Given the description of an element on the screen output the (x, y) to click on. 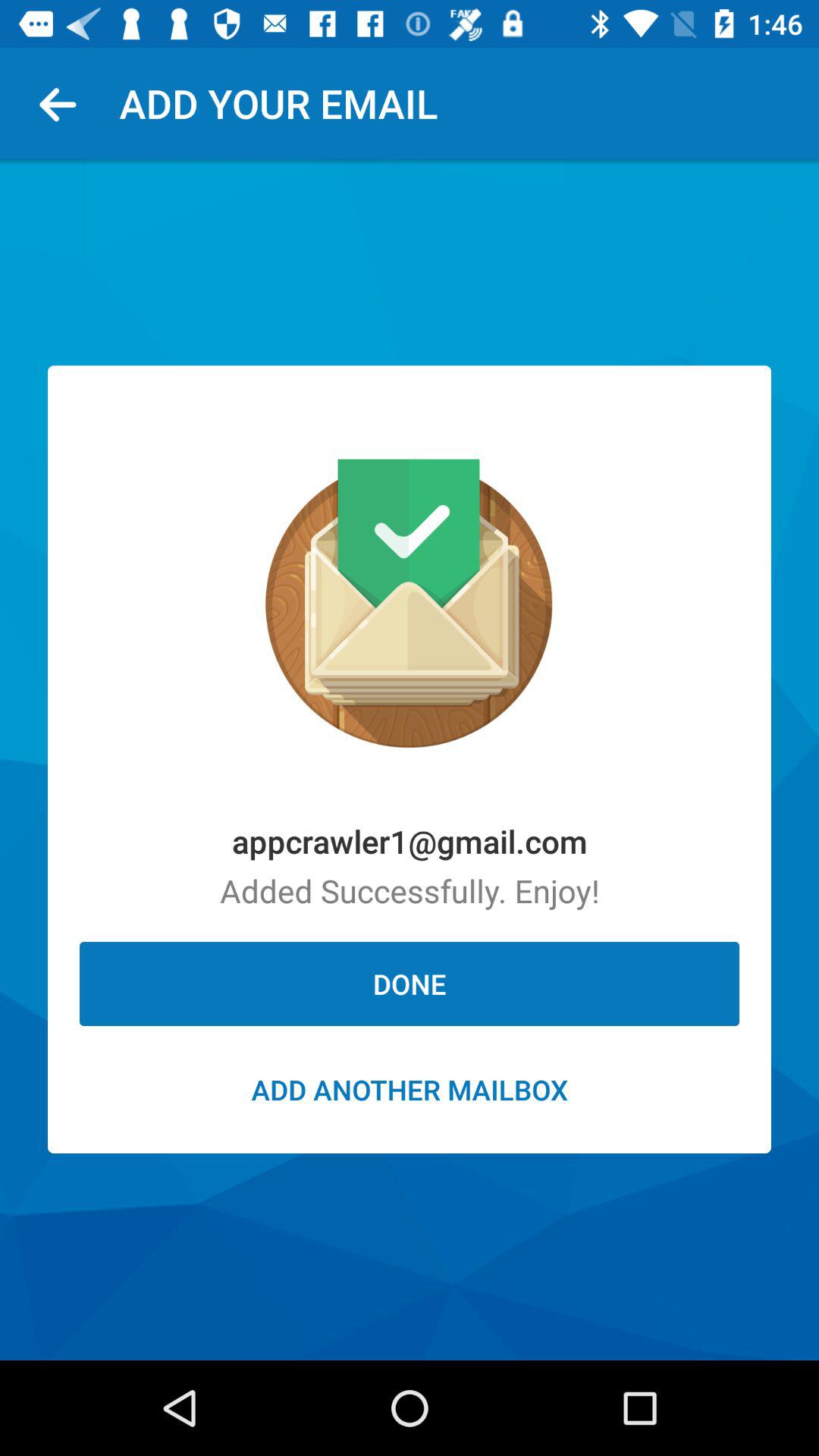
turn on the add another mailbox item (409, 1089)
